Given the description of an element on the screen output the (x, y) to click on. 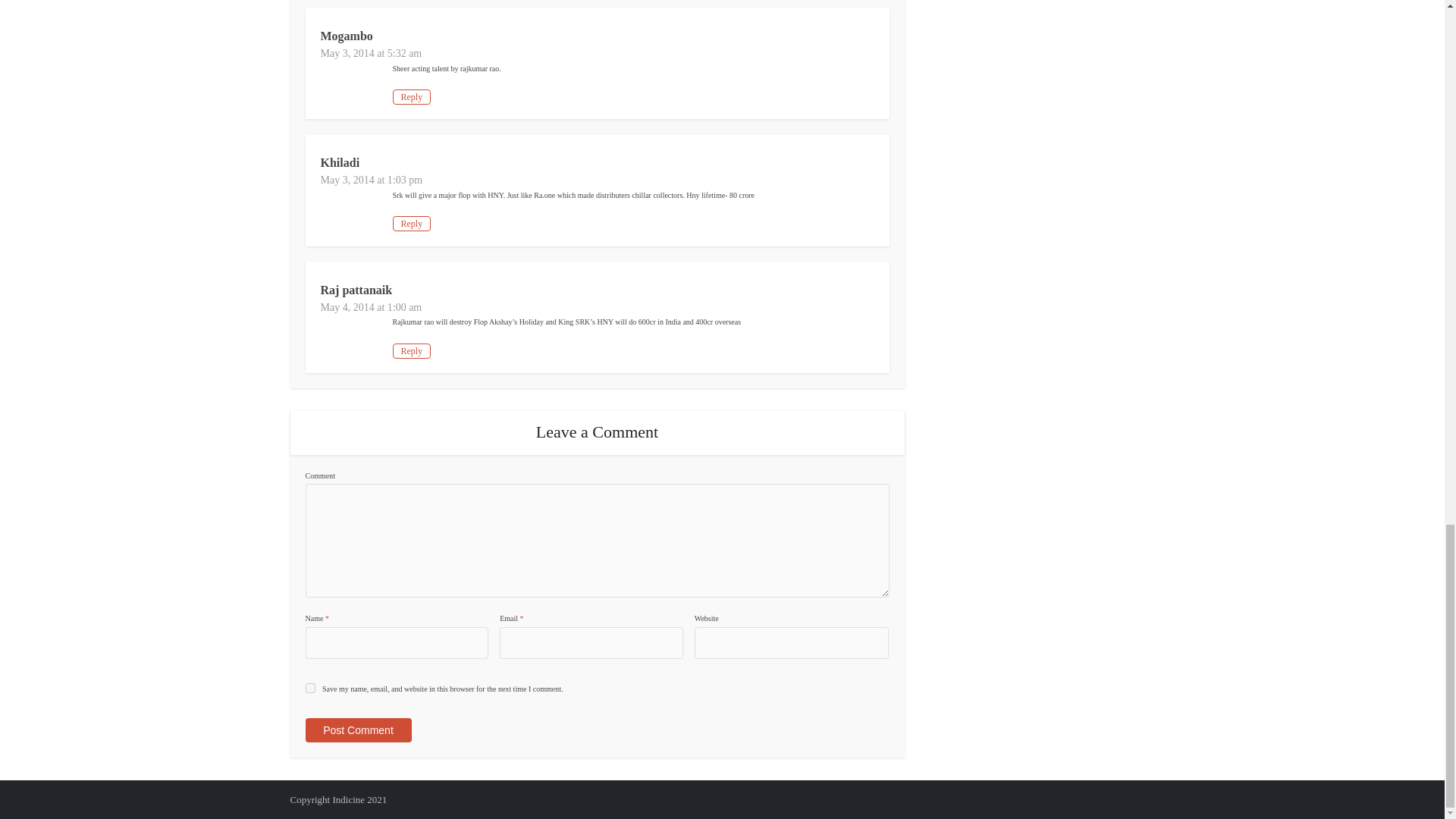
Reply (411, 96)
May 3, 2014 at 5:32 am (371, 52)
May 4, 2014 at 1:00 am (371, 307)
Post Comment (357, 730)
May 3, 2014 at 1:03 pm (371, 179)
yes (309, 687)
Reply (411, 223)
Reply (411, 350)
